Given the description of an element on the screen output the (x, y) to click on. 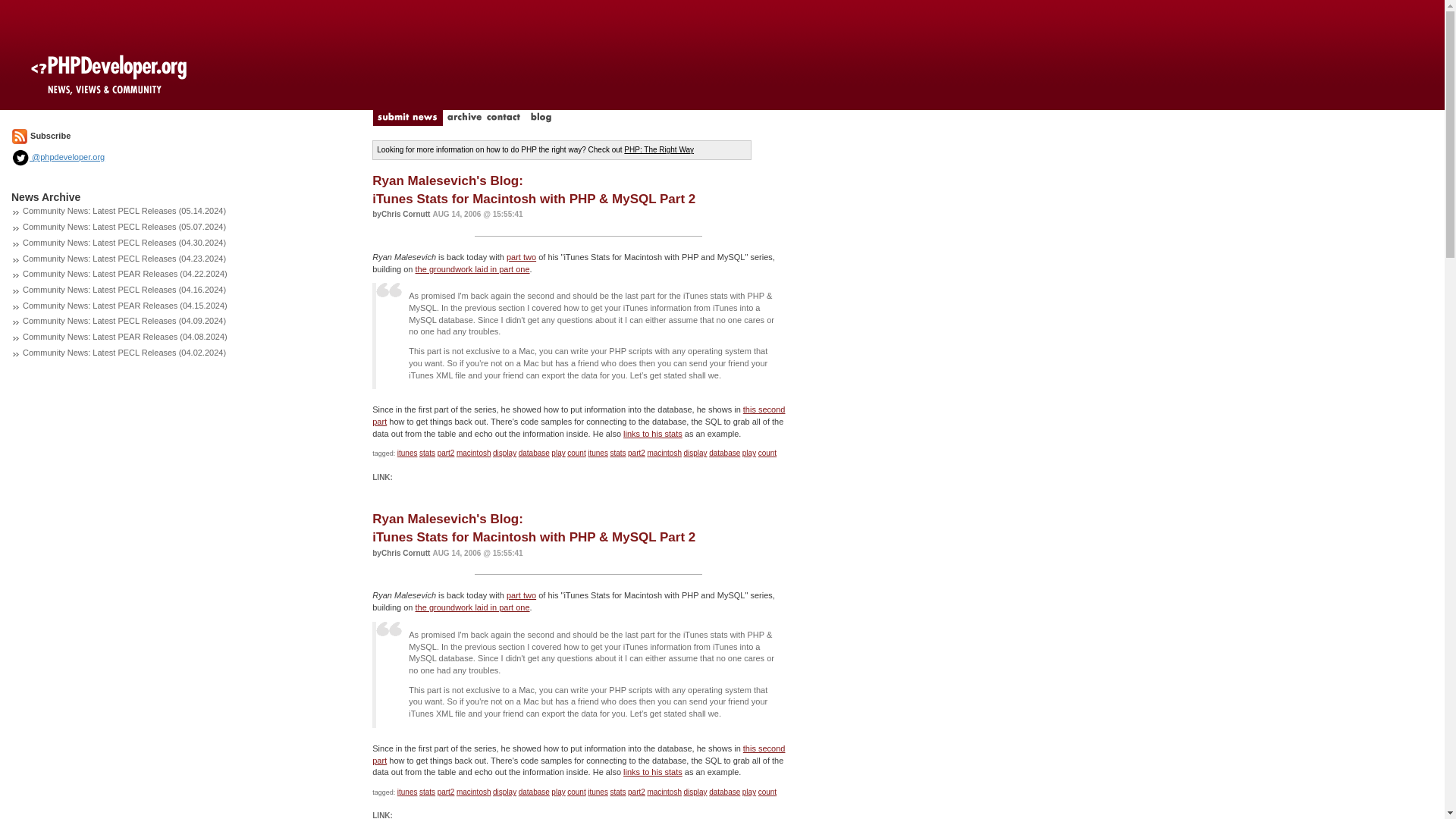
itunes (598, 452)
database (534, 452)
stats (427, 452)
play (748, 452)
the groundwork laid in part one (471, 268)
this second part (578, 414)
display (504, 452)
part2 (446, 452)
itunes (407, 452)
play (557, 452)
part2 (636, 452)
PHP: The Right Way (659, 149)
stats (618, 452)
links to his stats (652, 433)
database (724, 452)
